Given the description of an element on the screen output the (x, y) to click on. 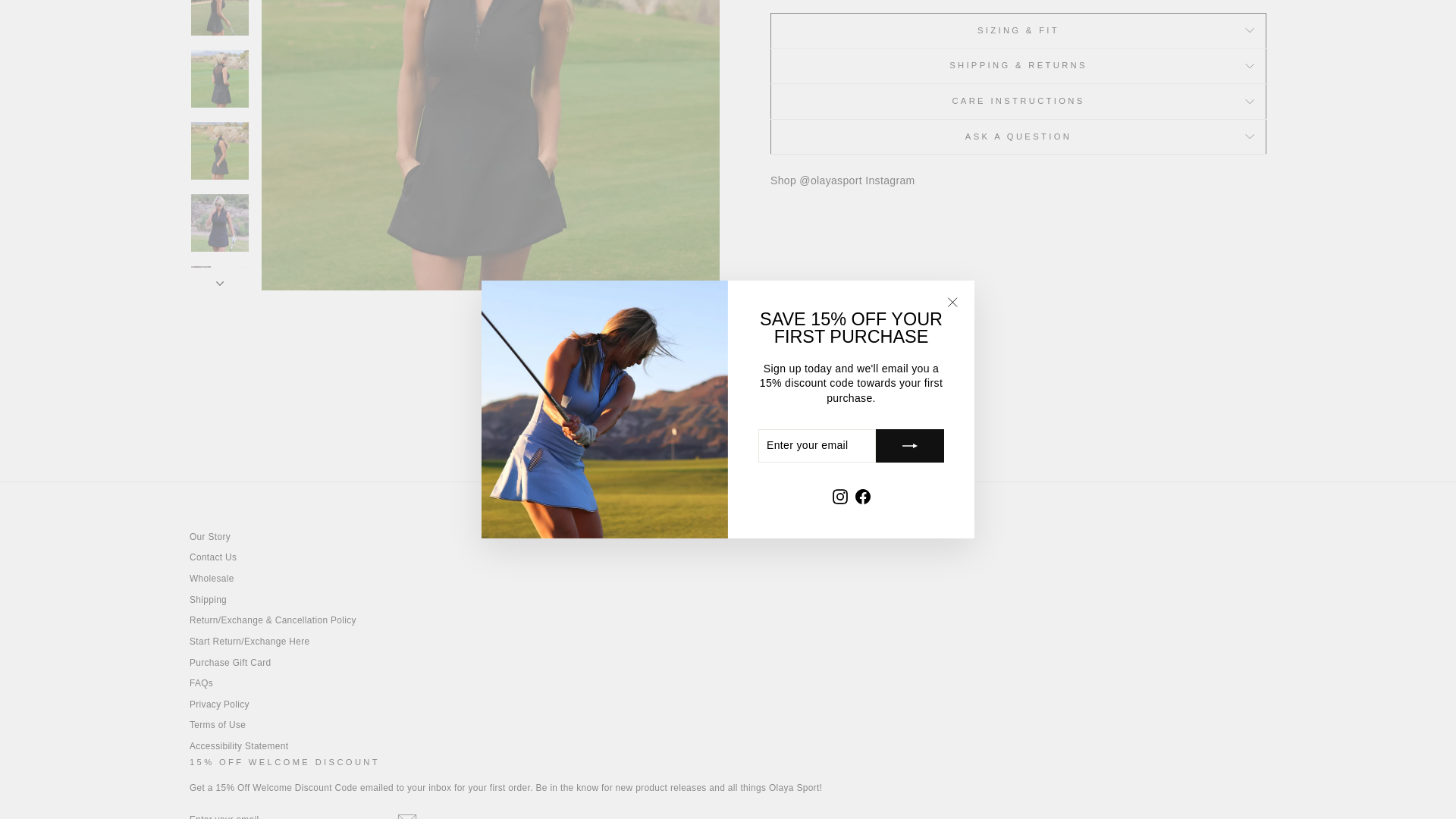
icon-email (406, 815)
ICON-LEFT-ARROW (584, 404)
